Given the description of an element on the screen output the (x, y) to click on. 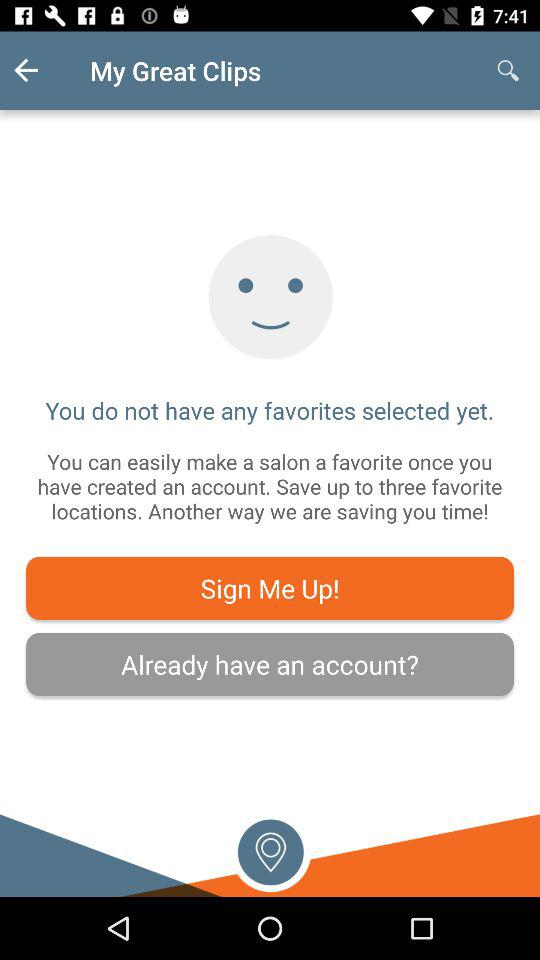
click the item at the top right corner (508, 70)
